Given the description of an element on the screen output the (x, y) to click on. 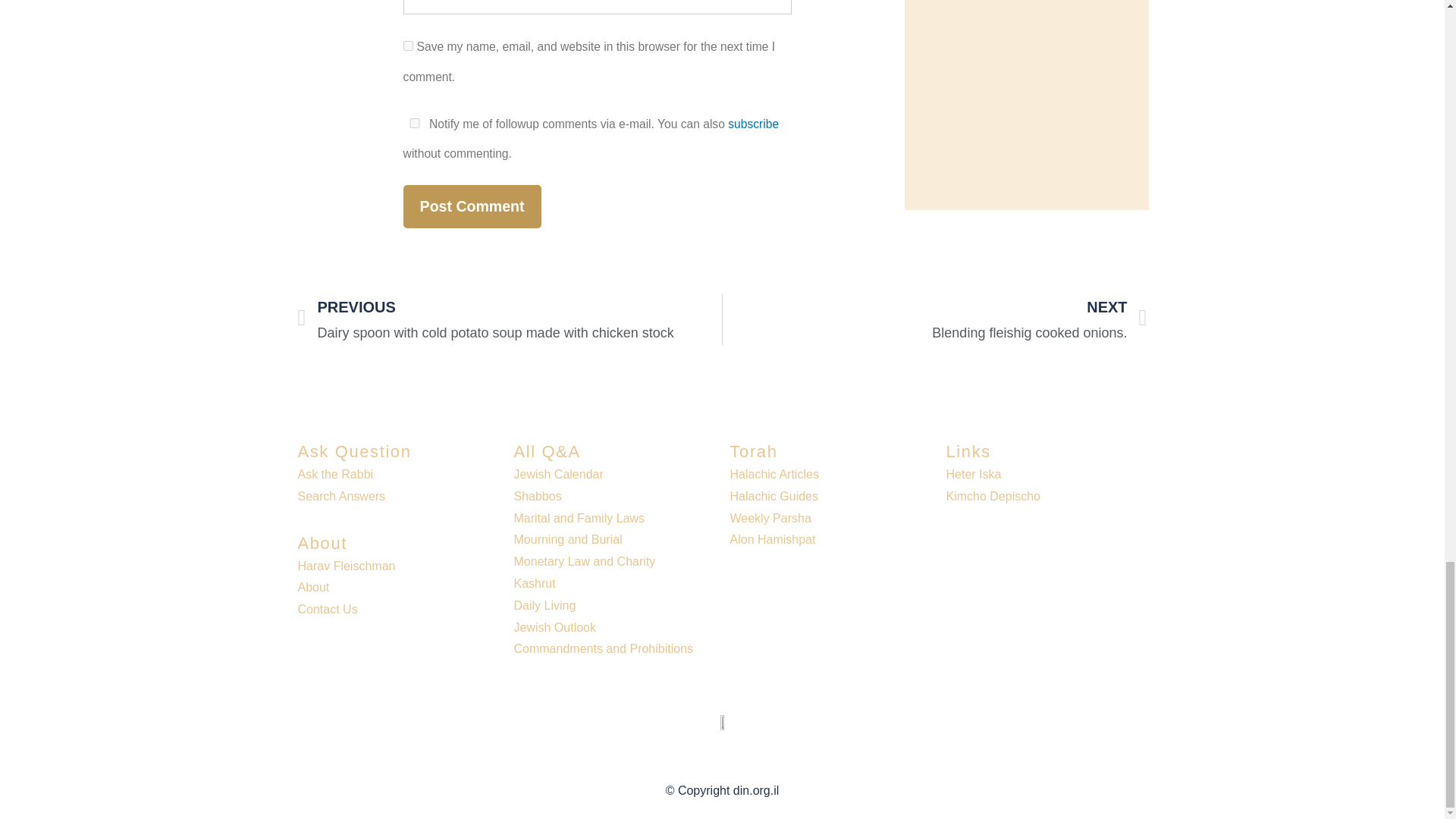
yes (414, 122)
Post Comment (472, 206)
yes (408, 45)
